Given the description of an element on the screen output the (x, y) to click on. 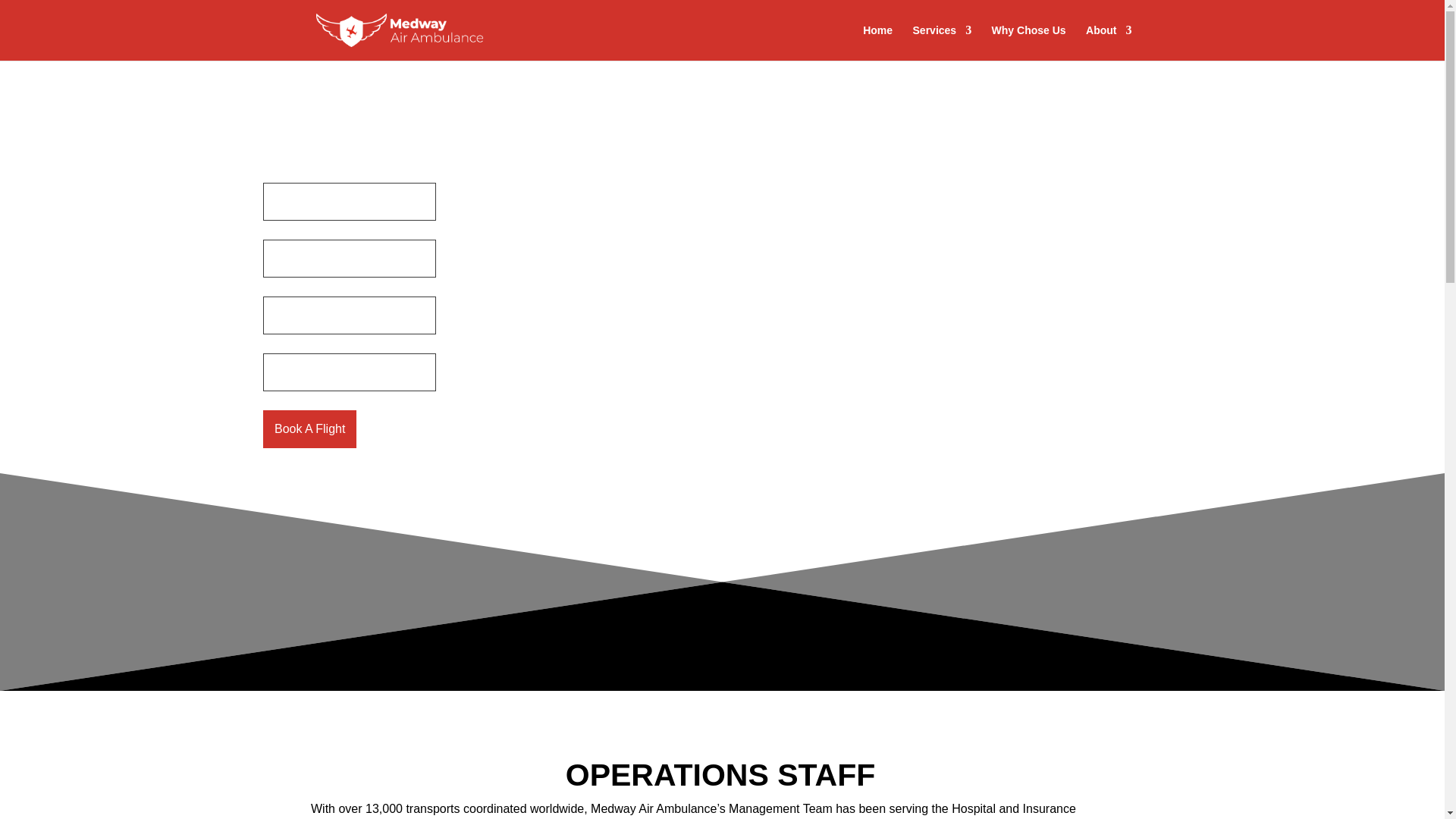
About (1108, 42)
Book A Flight (309, 428)
Why Chose Us (1028, 42)
Book A Flight (309, 428)
Services (942, 42)
